Given the description of an element on the screen output the (x, y) to click on. 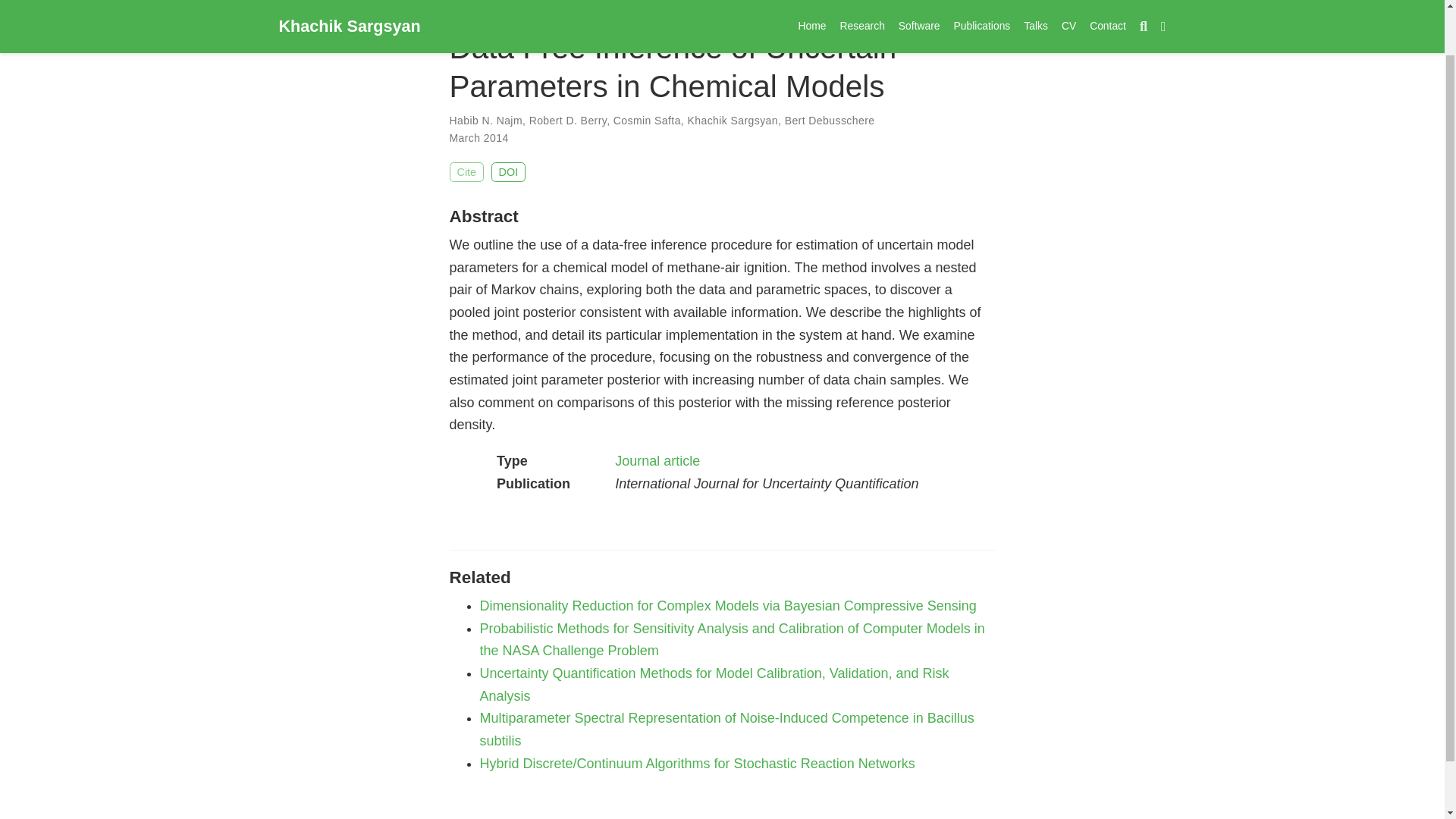
DOI (508, 171)
Journal article (657, 460)
Cite (465, 171)
